Given the description of an element on the screen output the (x, y) to click on. 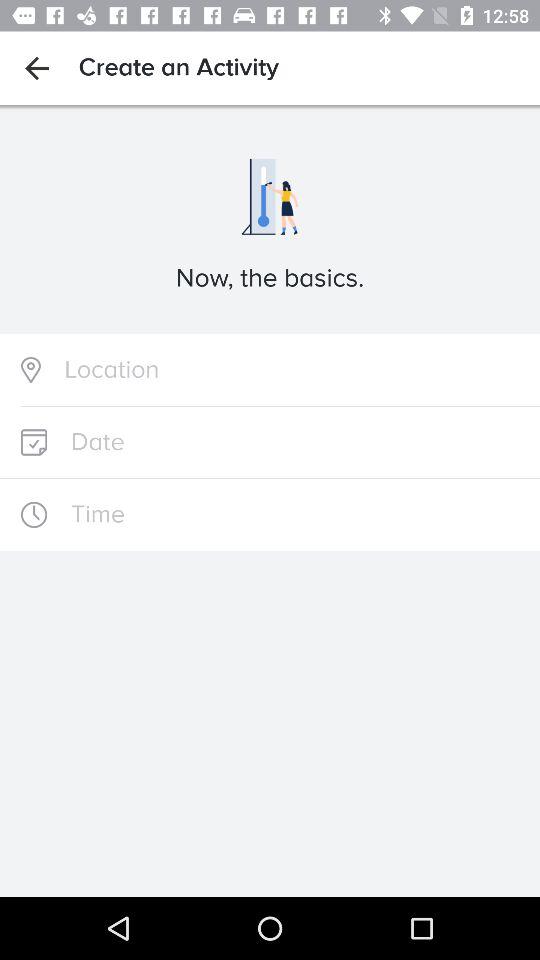
set time of event (270, 514)
